Given the description of an element on the screen output the (x, y) to click on. 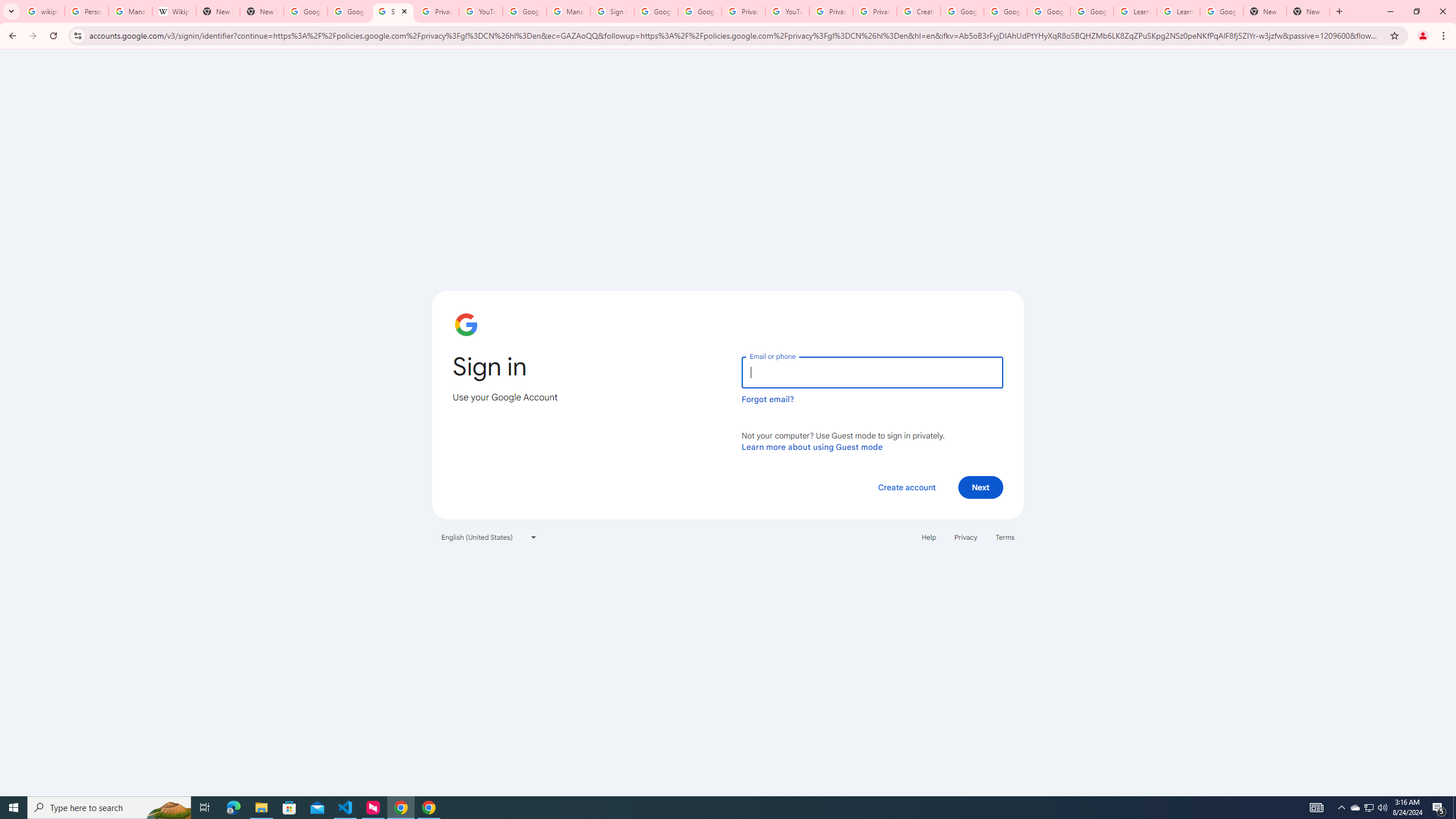
Google Drive: Sign-in (349, 11)
Google Account (1221, 11)
Personalization & Google Search results - Google Search Help (86, 11)
Google Account Help (1005, 11)
YouTube (786, 11)
